Given the description of an element on the screen output the (x, y) to click on. 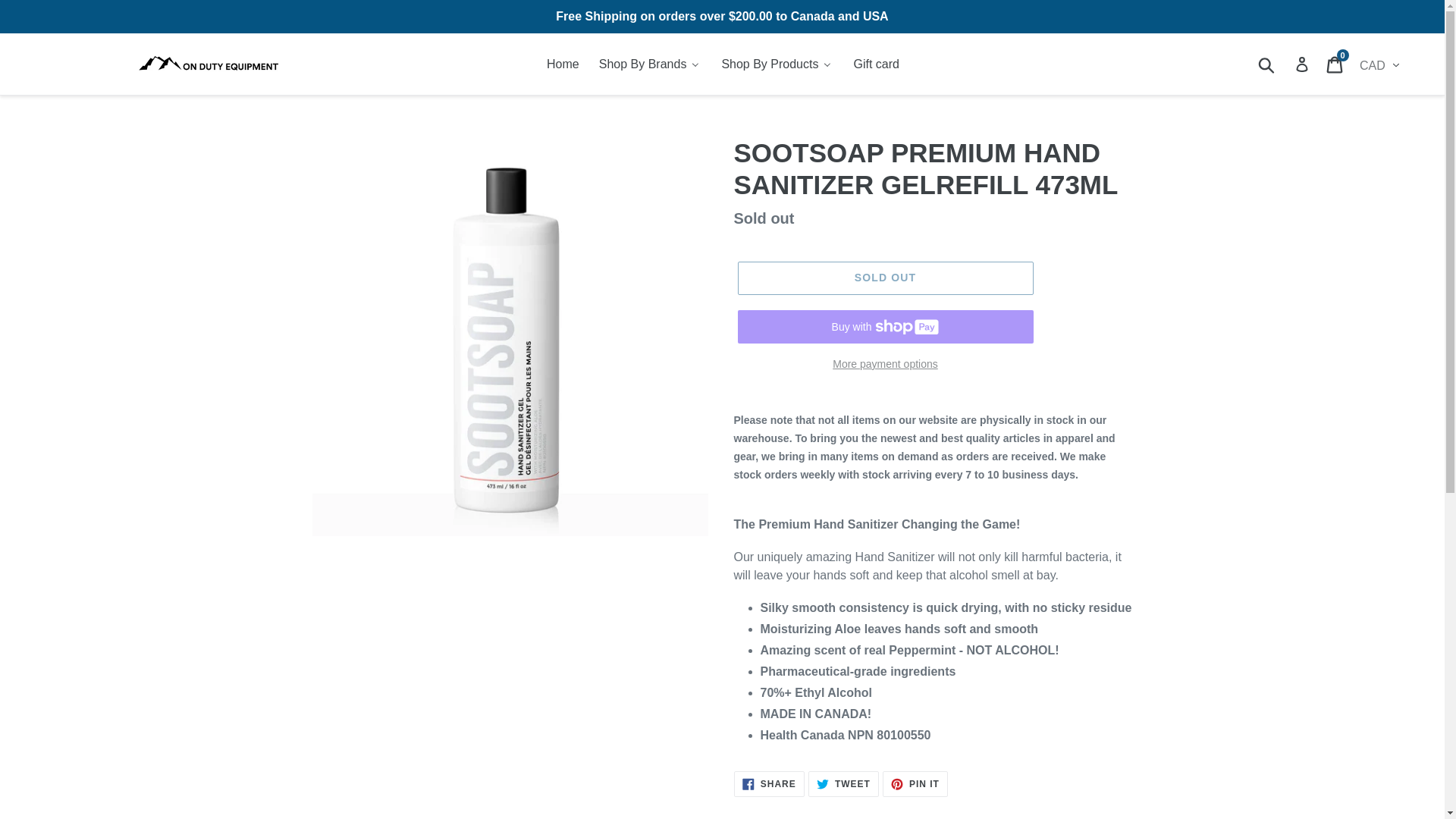
Shop By Brands (649, 64)
Home (561, 64)
